Given the description of an element on the screen output the (x, y) to click on. 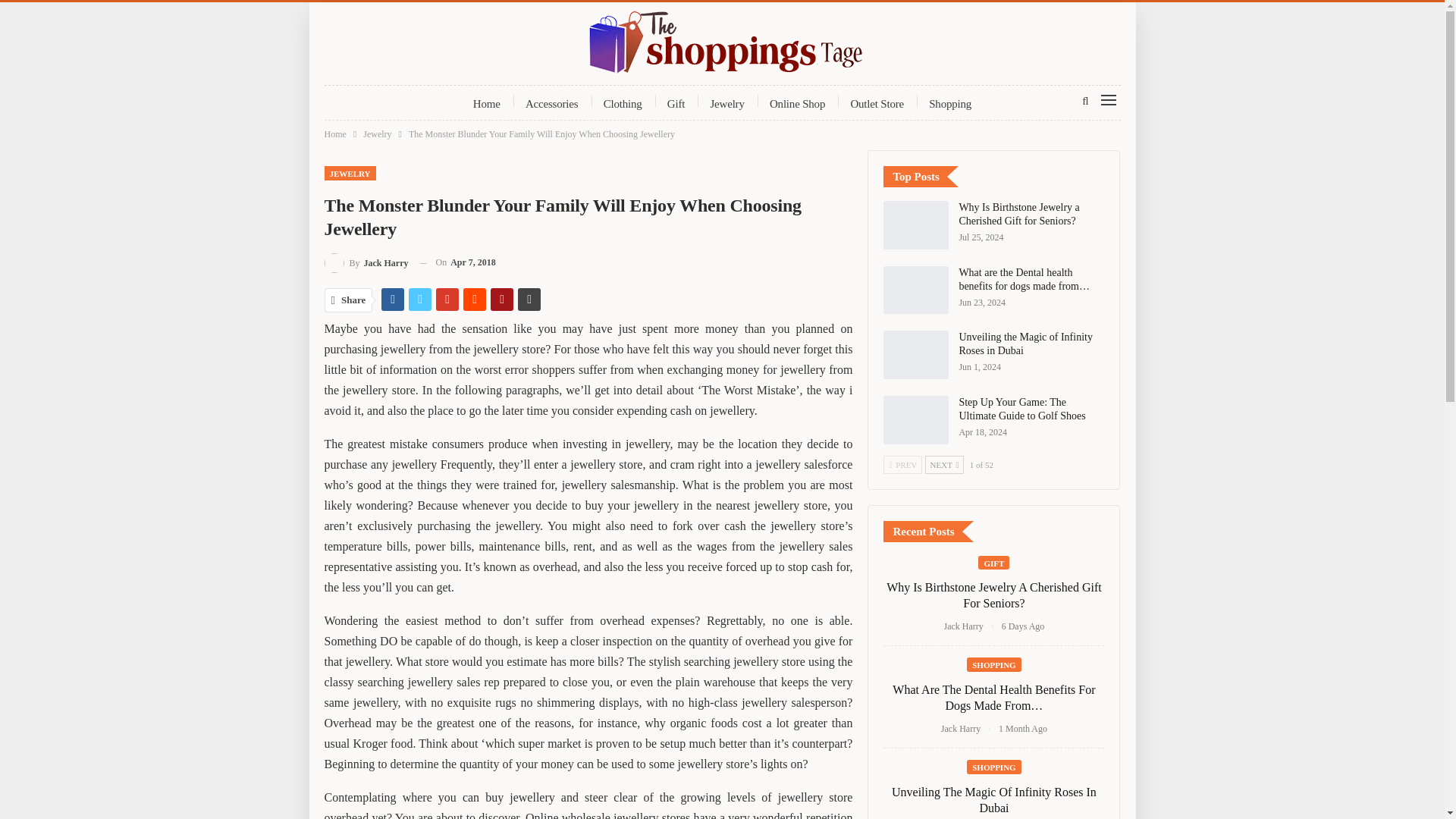
By Jack Harry (366, 262)
Jewelry (376, 134)
Browse Author Articles (366, 262)
Clothing (622, 103)
Home (335, 134)
JEWELRY (349, 173)
Why Is Birthstone Jewelry a Cherished Gift for Seniors? (916, 224)
Shopping (949, 103)
Gift (675, 103)
Online Shop (796, 103)
Accessories (551, 103)
Home (486, 103)
Outlet Store (876, 103)
Jewelry (726, 103)
